Given the description of an element on the screen output the (x, y) to click on. 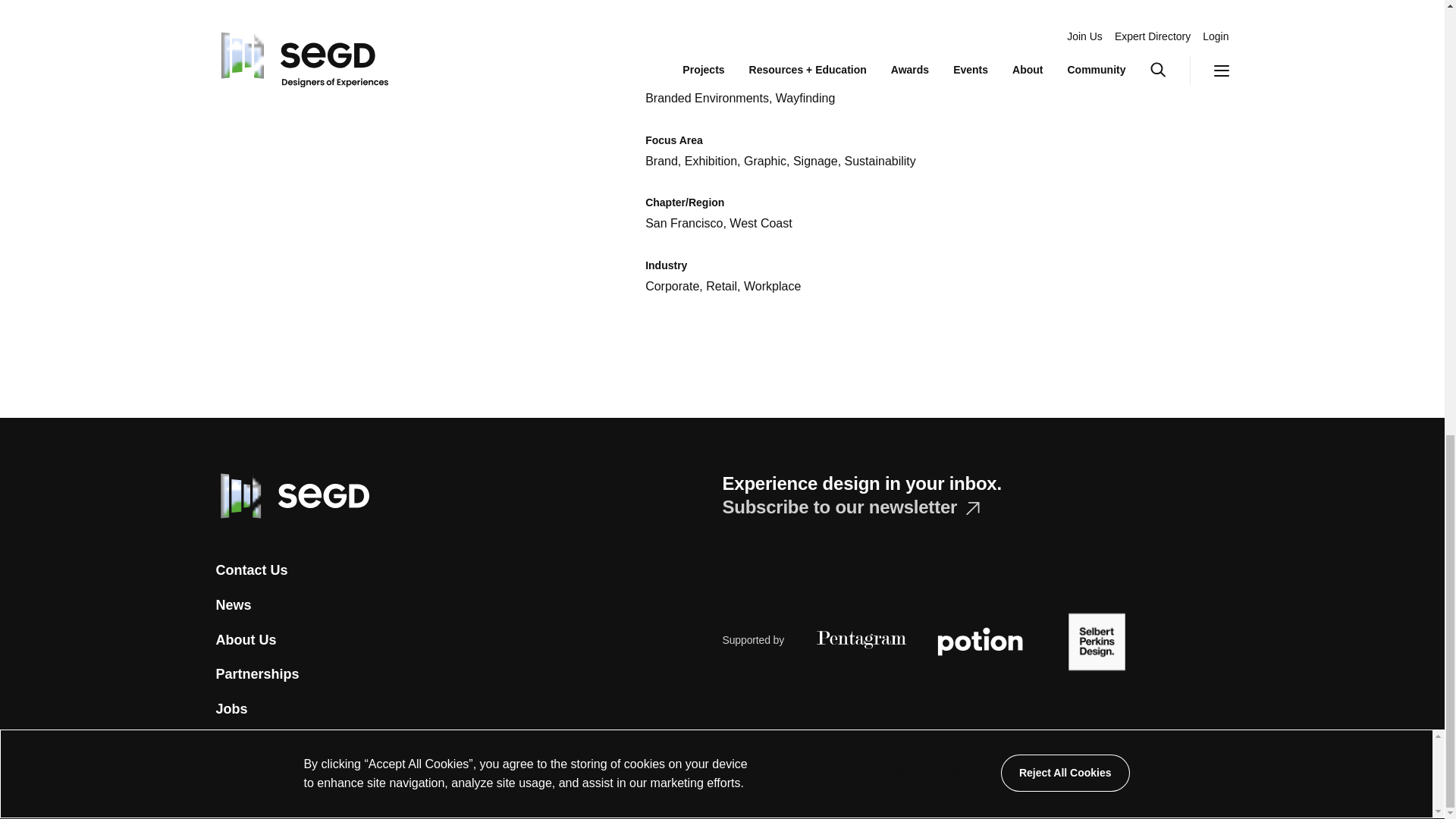
Link to instagram (283, 786)
Contact Us (250, 570)
News (232, 605)
Subscribe to our newsletter (850, 506)
Terms and Conditions (773, 786)
Society for Experiential Graphic Design logo (291, 495)
Link to linkedin (383, 786)
Jobs (231, 709)
Partnerships (256, 674)
Link to twitter (222, 783)
Return to Homepage (291, 494)
About Us (245, 639)
Link to vimeo (316, 786)
Wide Eye (903, 786)
